Given the description of an element on the screen output the (x, y) to click on. 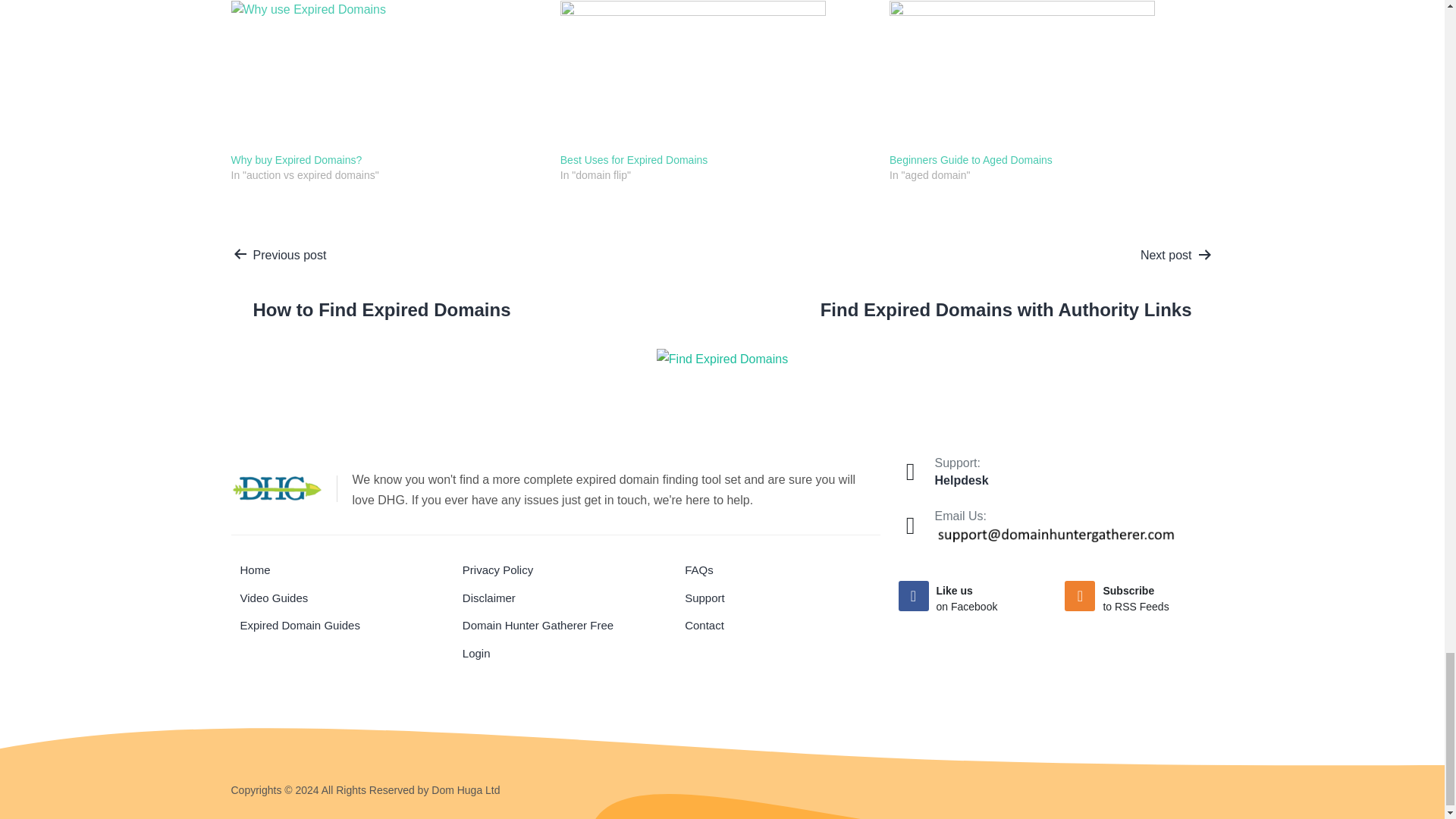
Best Uses for Expired Domains (717, 76)
Beginners Guide to Aged Domains (1046, 76)
Why buy Expired Domains? (295, 159)
Beginners Guide to Aged Domains (970, 159)
Best Uses for Expired Domains (633, 159)
Best Uses for Expired Domains (633, 159)
Why buy Expired Domains? (295, 159)
Beginners Guide to Aged Domains (970, 159)
Why buy Expired Domains? (387, 76)
